Given the description of an element on the screen output the (x, y) to click on. 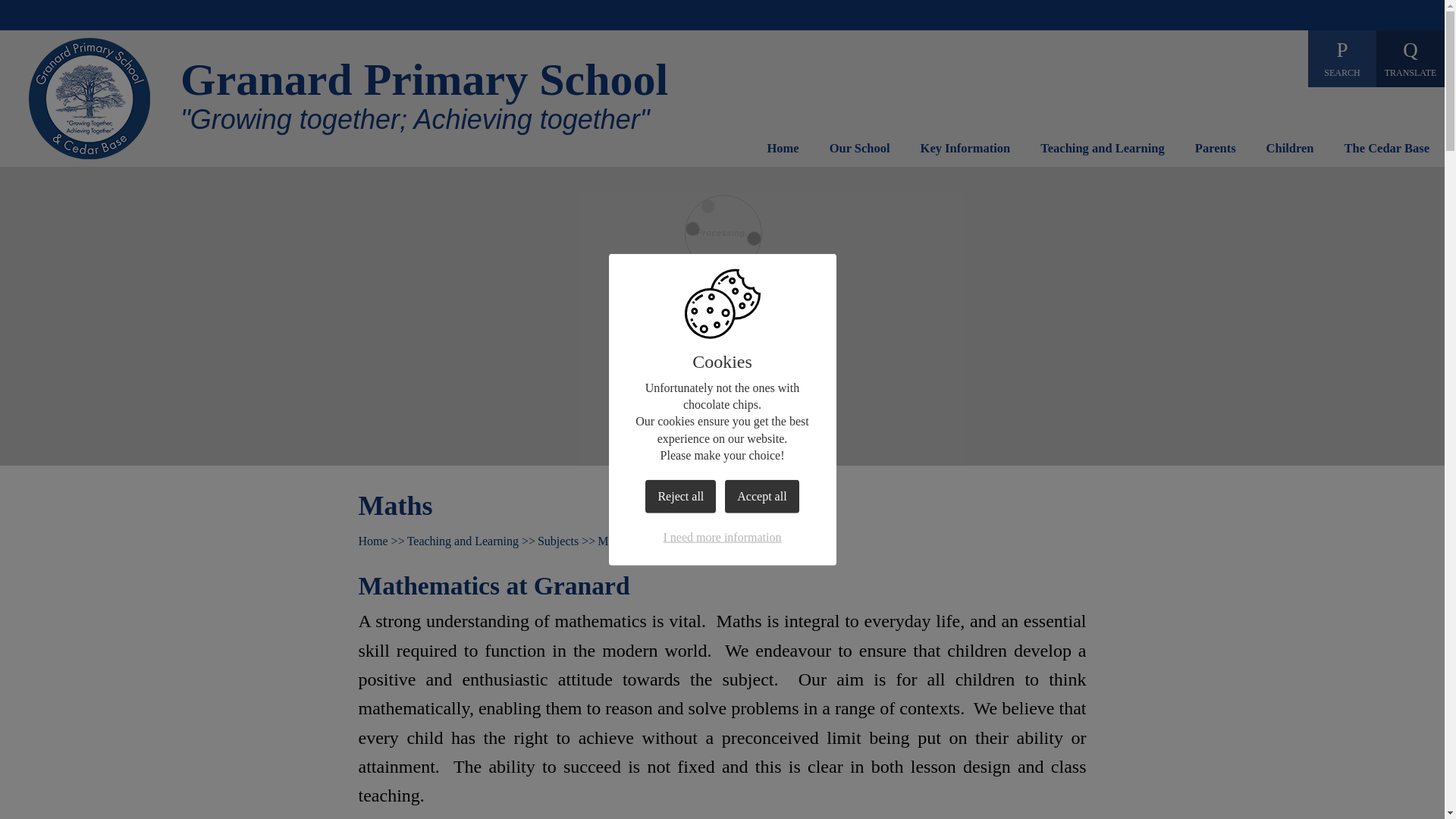
Home (782, 152)
Our School (859, 152)
Key Information (965, 152)
Home Page (89, 97)
